Given the description of an element on the screen output the (x, y) to click on. 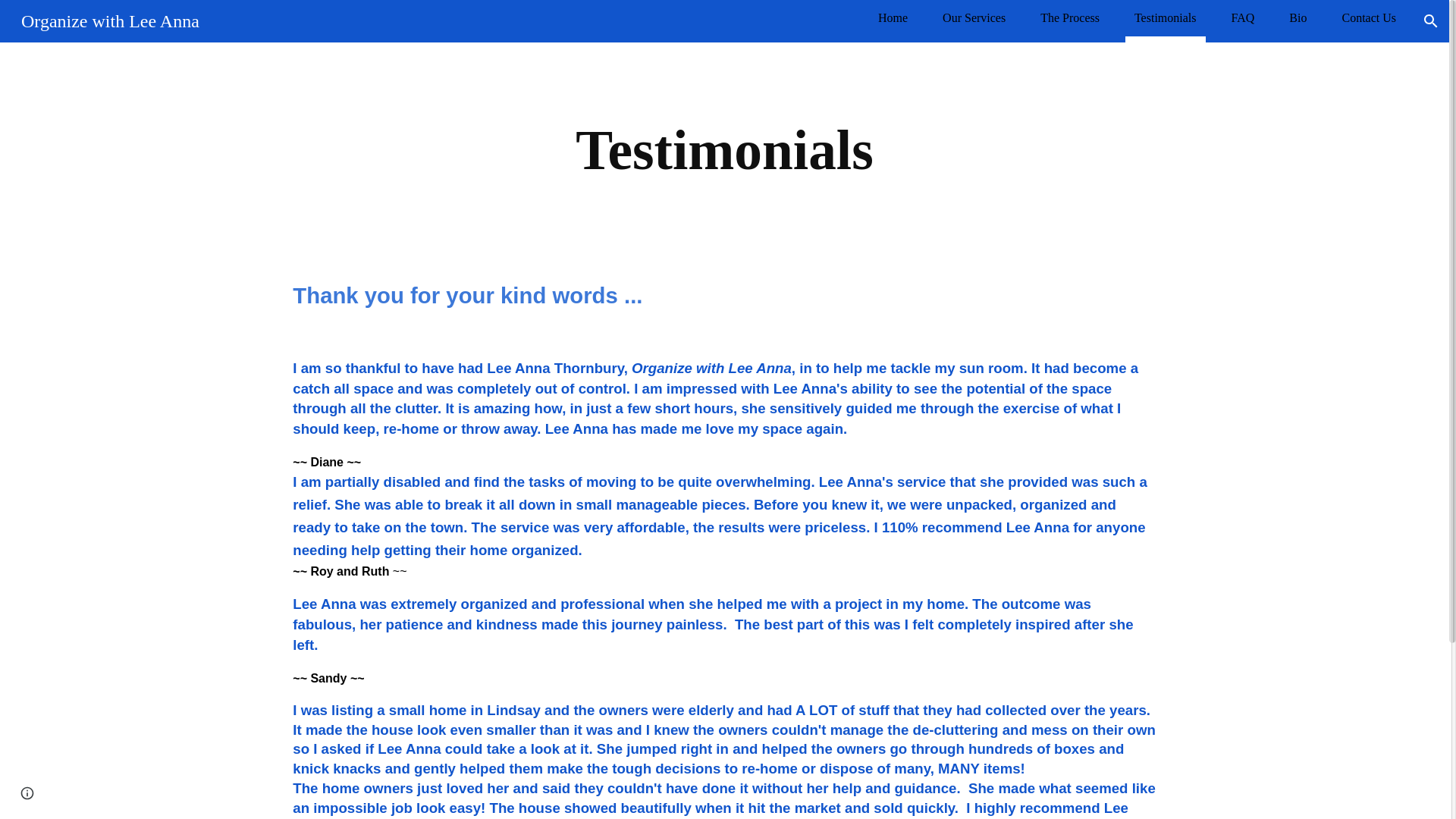
FAQ (1243, 17)
Contact Us (1368, 17)
Organize with Lee Anna (109, 19)
Testimonials (1165, 17)
Our Services (974, 17)
The Process (1070, 17)
Home (892, 17)
